Given the description of an element on the screen output the (x, y) to click on. 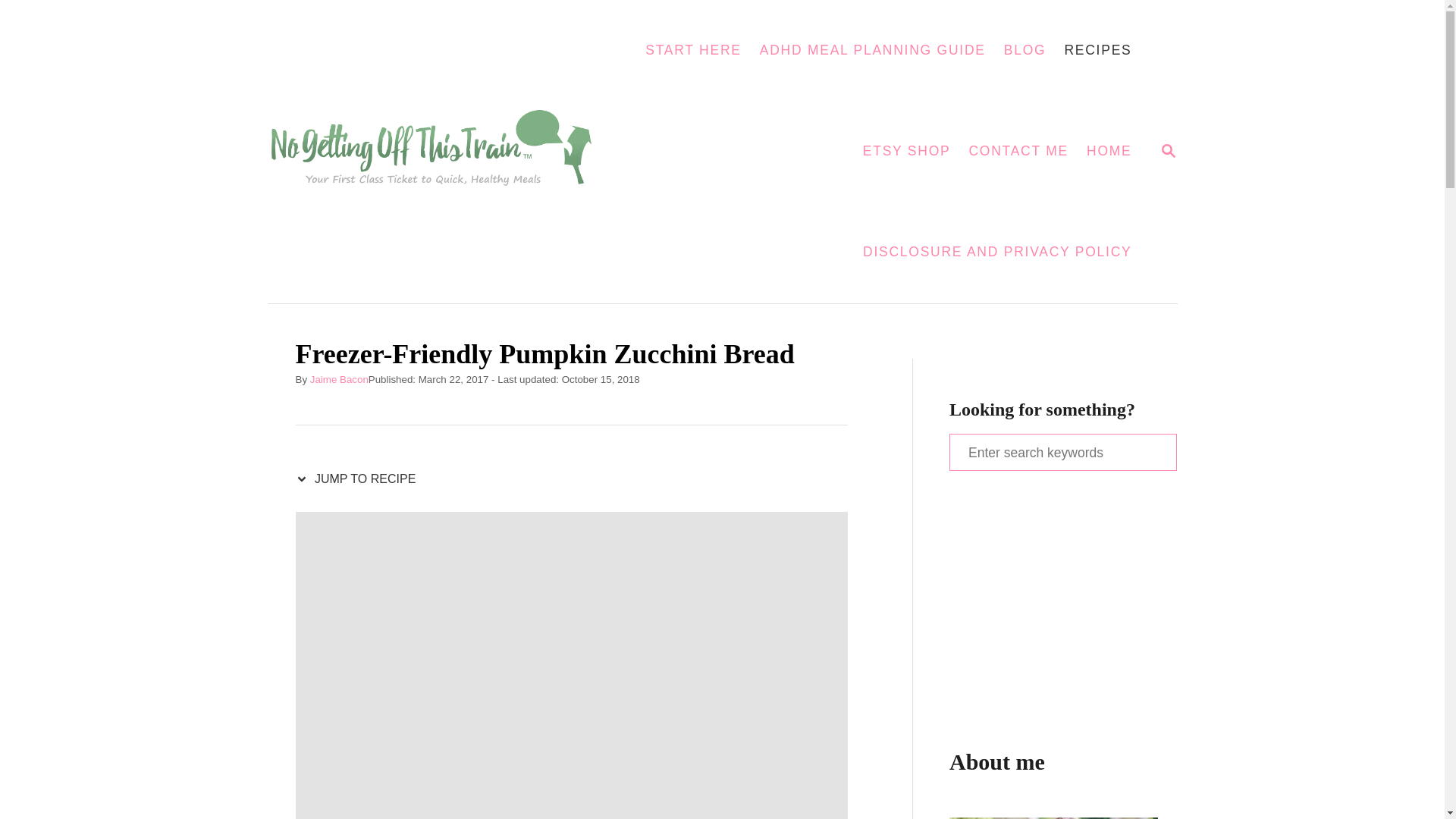
ADHD MEAL PLANNING GUIDE (872, 50)
MAGNIFYING GLASS (1167, 149)
Jaime Bacon (339, 378)
JUMP TO RECIPE (1167, 150)
CONTACT ME (359, 478)
Search for: (1018, 151)
START HERE (1062, 452)
No Getting Off This Train (692, 50)
ETSY SHOP (439, 151)
